Given the description of an element on the screen output the (x, y) to click on. 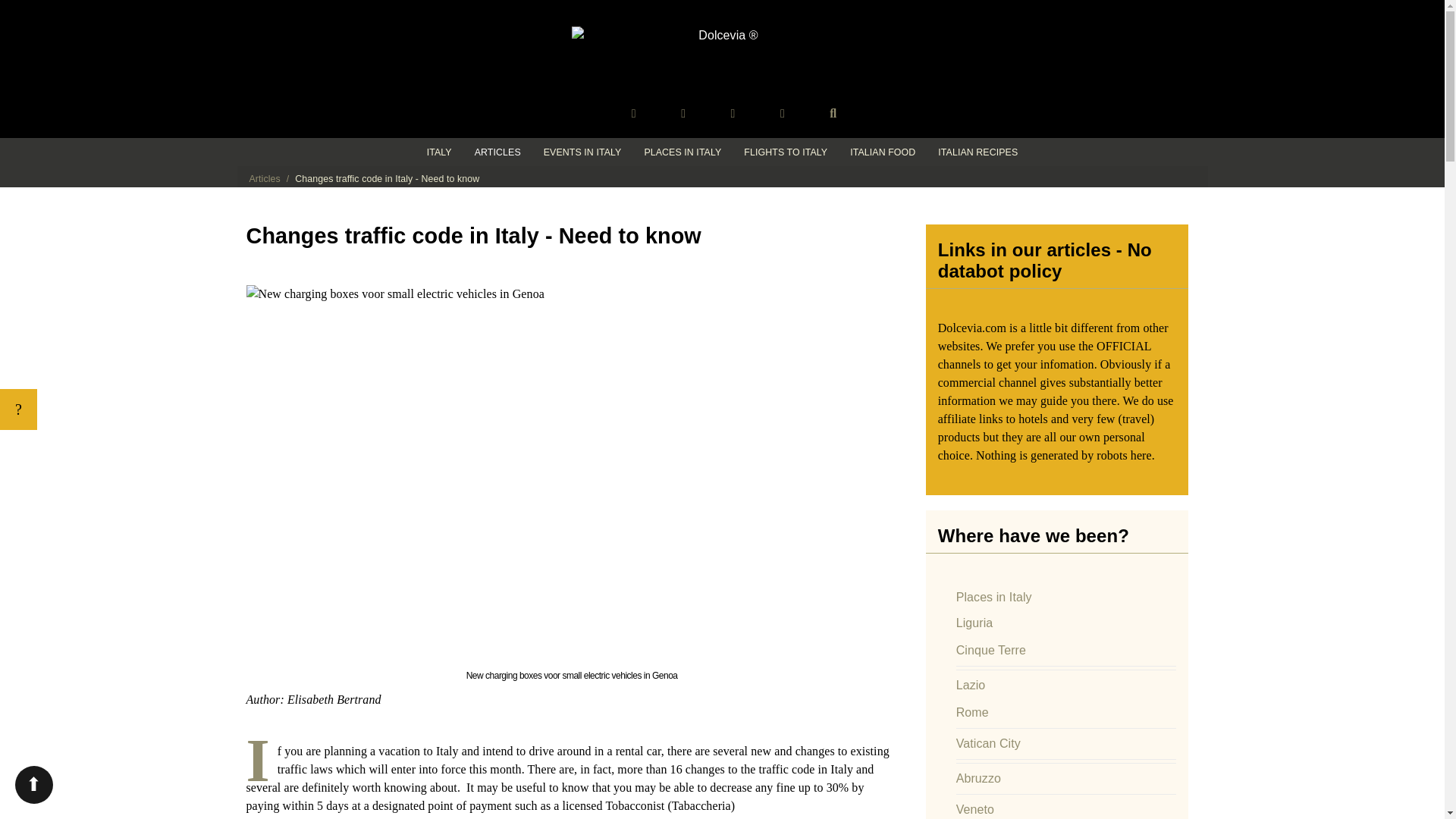
FLIGHTS TO ITALY (785, 151)
Abruzzo (978, 778)
Italy (438, 151)
Login (733, 113)
Articles (263, 178)
Liguria (974, 622)
ITALY (438, 151)
Italian Recipes (977, 151)
Veneto (975, 809)
Vatican City (988, 743)
PLACES IN ITALY (681, 151)
ITALIAN FOOD (882, 151)
Contact the editorial desk (783, 113)
Cinque Terre (991, 649)
Advanced Search (833, 113)
